Given the description of an element on the screen output the (x, y) to click on. 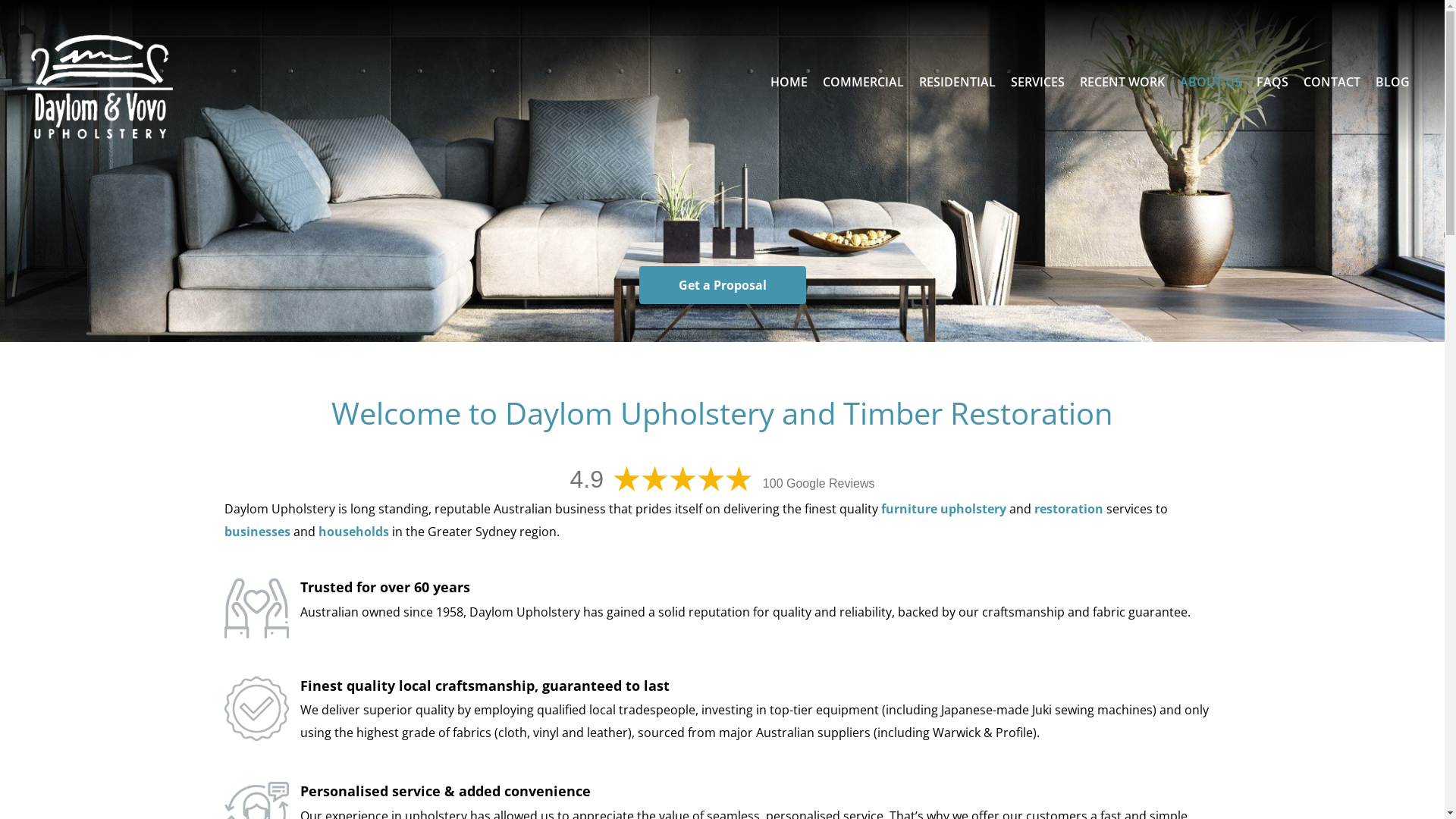
businesses Element type: text (257, 531)
100 Google Reviews Element type: text (818, 482)
SERVICES Element type: text (1037, 81)
COMMERCIAL Element type: text (863, 81)
HOME Element type: text (788, 81)
FAQS Element type: text (1271, 81)
ABOUT US Element type: text (1210, 81)
RECENT WORK Element type: text (1122, 81)
RESIDENTIAL Element type: text (957, 81)
Get a Proposal Element type: text (721, 285)
restoration Element type: text (1068, 508)
BLOG Element type: text (1392, 81)
CONTACT Element type: text (1331, 81)
households Element type: text (353, 531)
furniture upholstery Element type: text (943, 508)
